Given the description of an element on the screen output the (x, y) to click on. 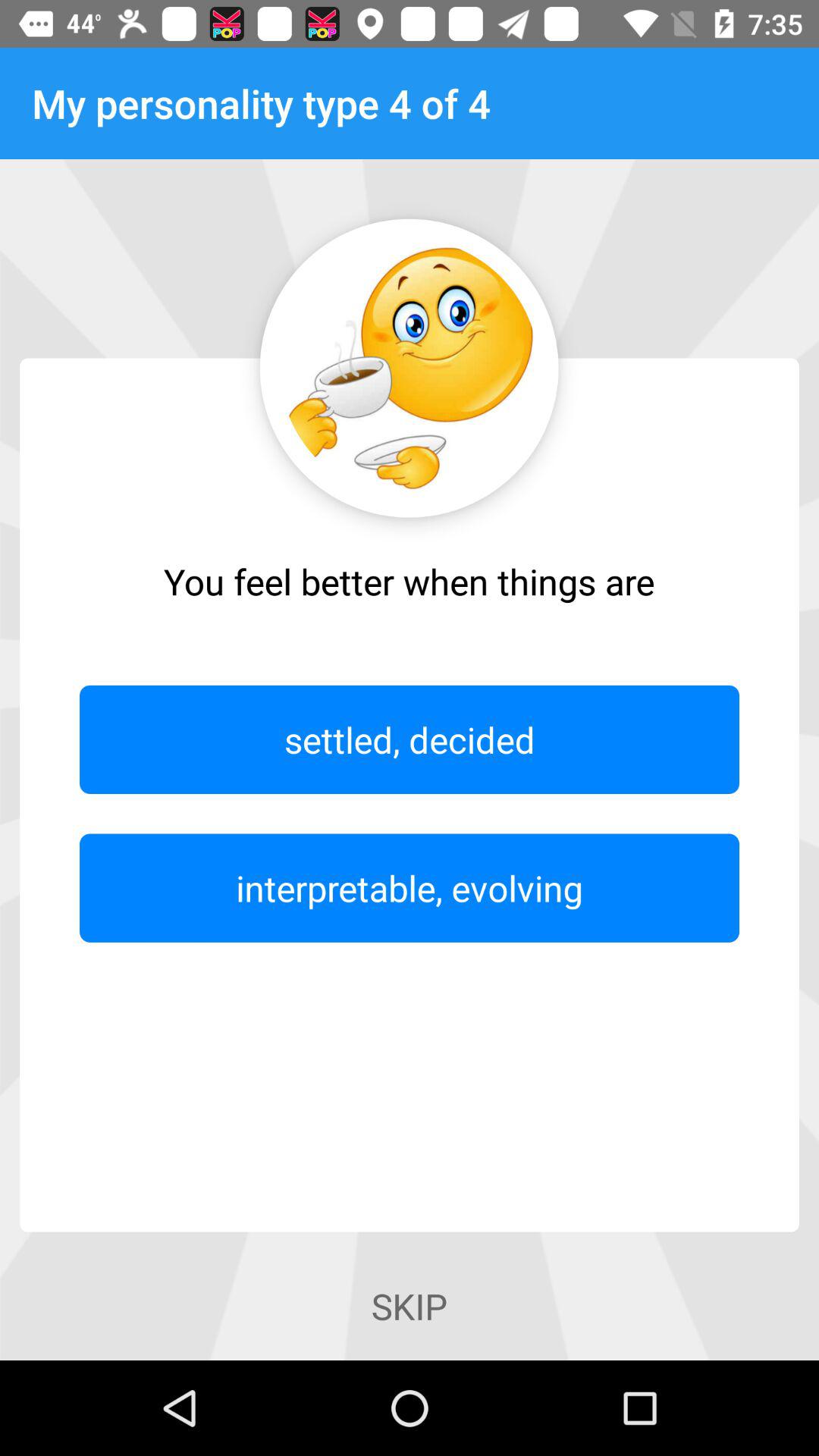
open icon below the settled, decided icon (409, 887)
